Given the description of an element on the screen output the (x, y) to click on. 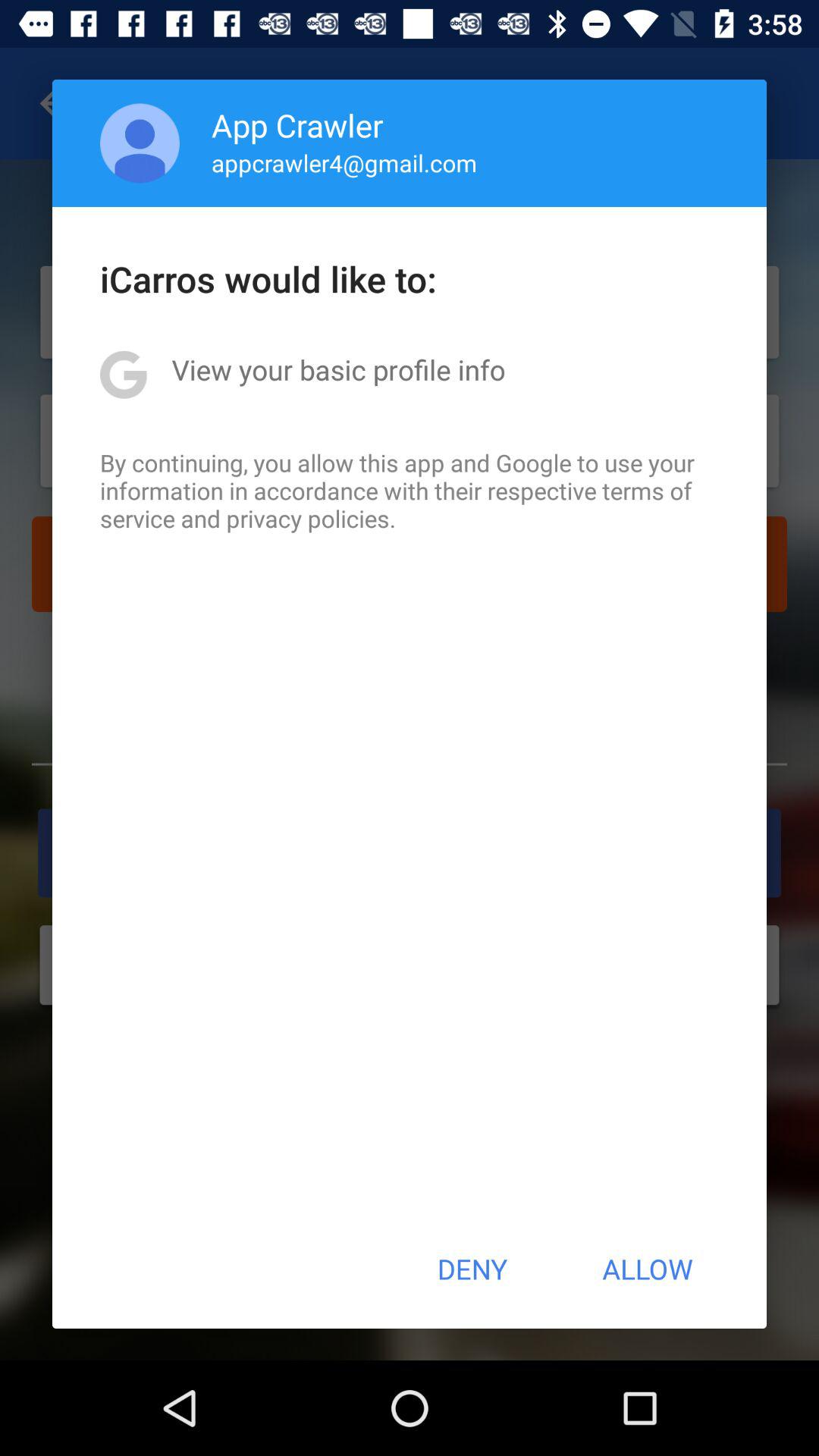
open the icon above by continuing you icon (338, 369)
